Given the description of an element on the screen output the (x, y) to click on. 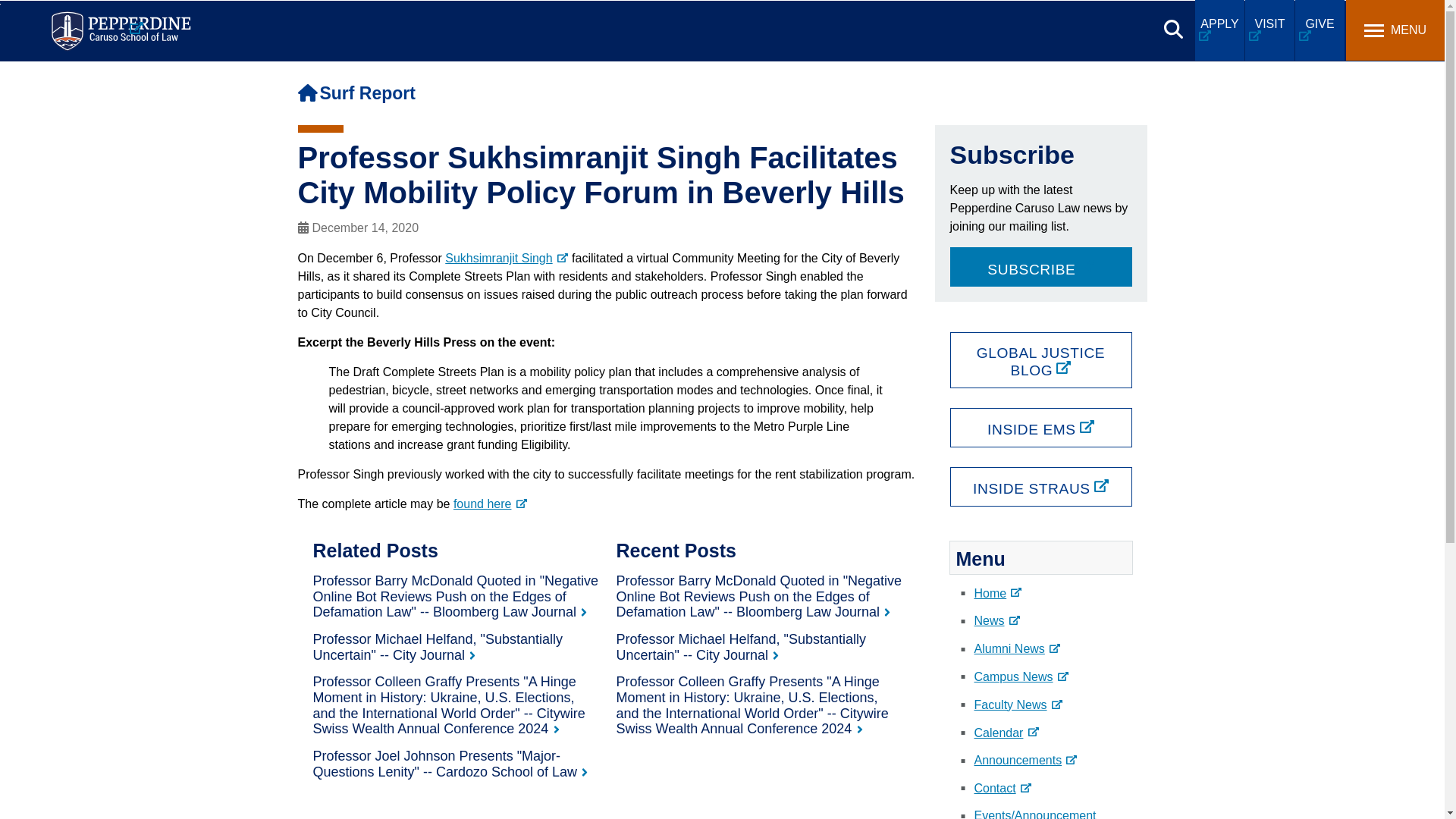
home (307, 92)
open search (1173, 28)
Submit (457, 19)
Link to External Site (489, 503)
